Given the description of an element on the screen output the (x, y) to click on. 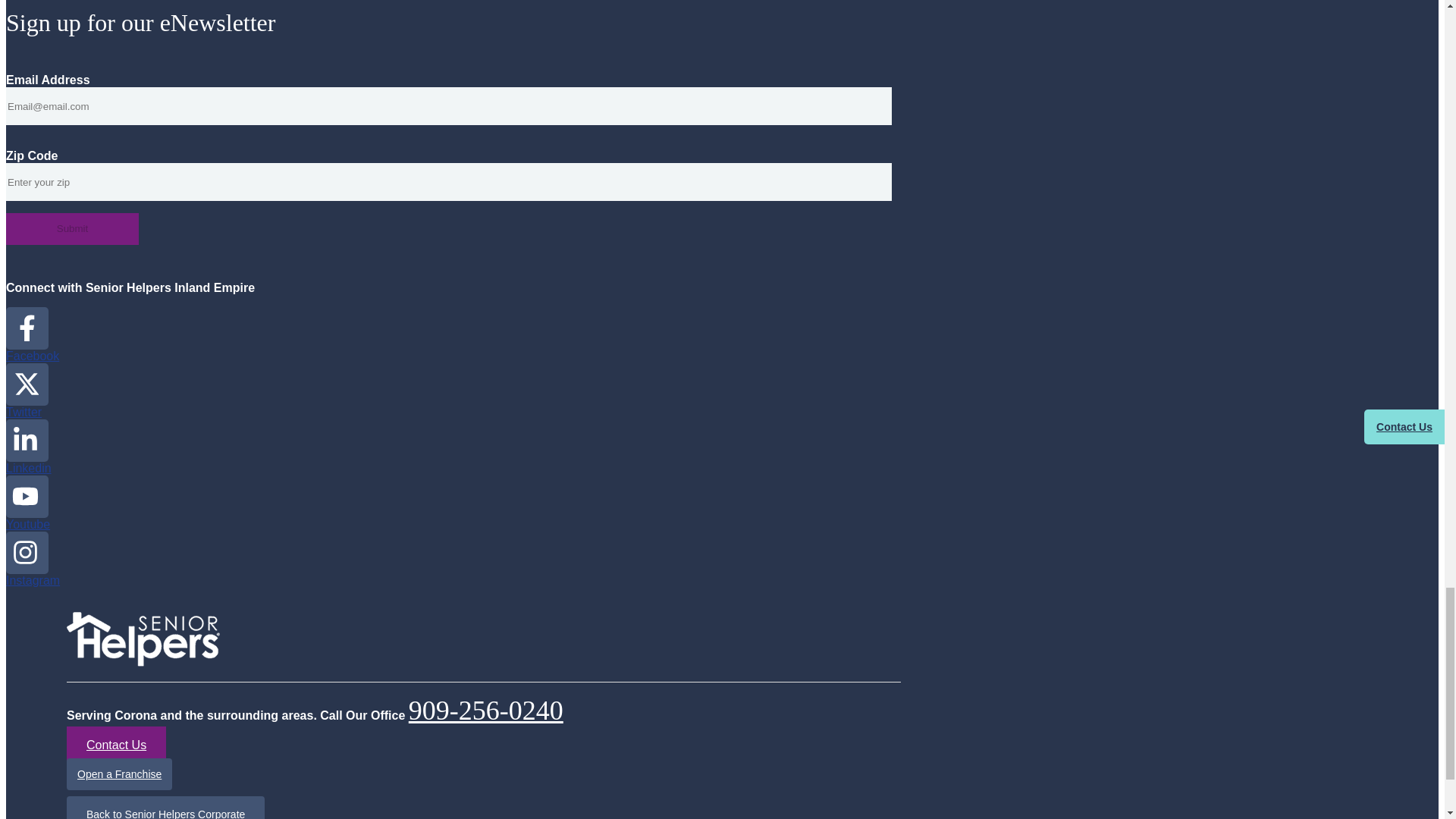
Instagram (32, 559)
Twitter (26, 390)
Facebook (32, 334)
Youtube (27, 502)
Linkedin (27, 447)
